Given the description of an element on the screen output the (x, y) to click on. 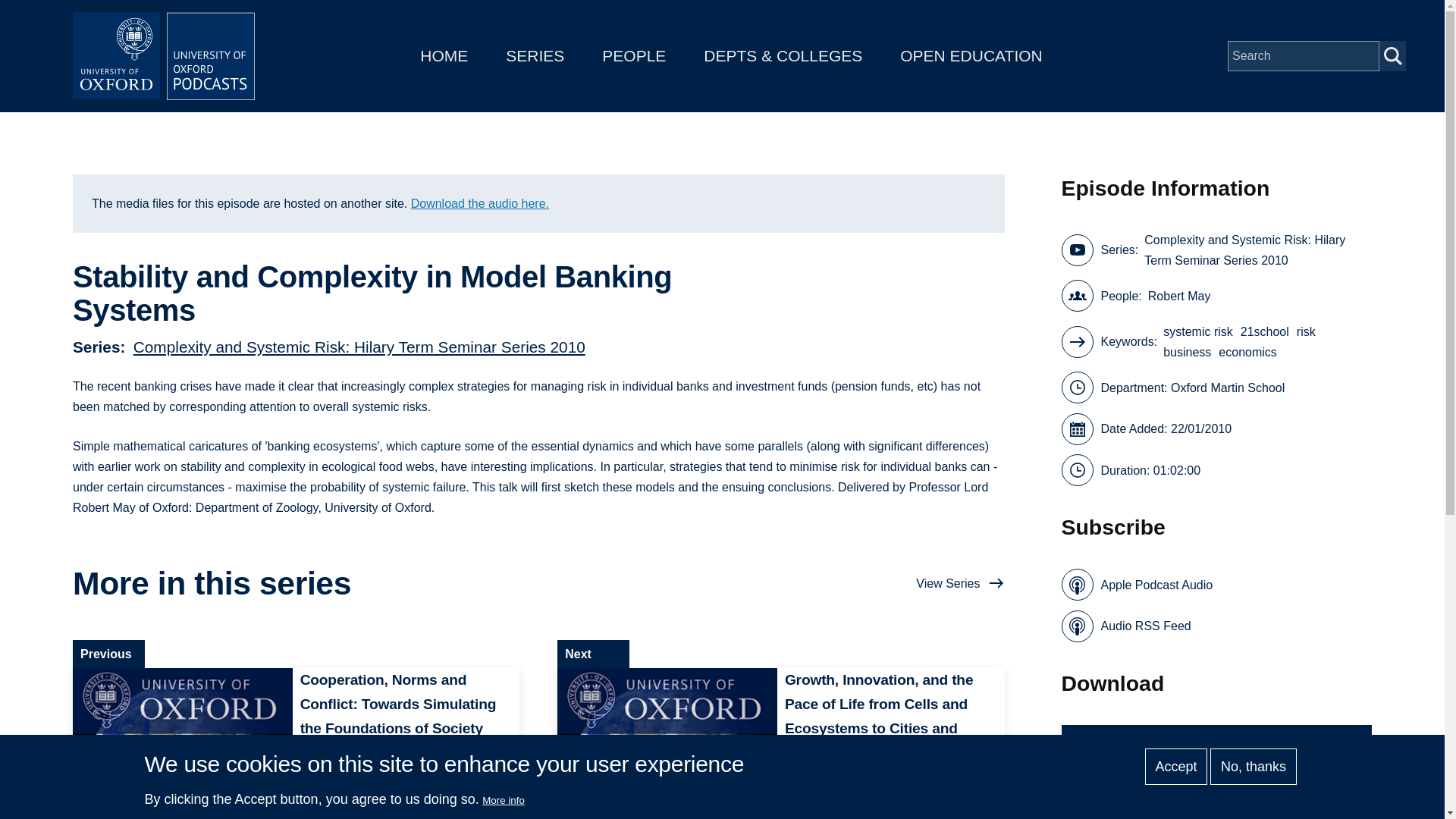
risk (1306, 331)
21school (1264, 331)
Oxford Martin School (1227, 387)
Robert May (1179, 295)
SERIES (534, 55)
Download Audio (1217, 743)
Audio RSS Feed (1126, 626)
systemic risk (1198, 331)
More info (502, 799)
Apple Podcast Audio (1136, 584)
business (1187, 352)
PEOPLE (633, 55)
economics (1247, 352)
OPEN EDUCATION (970, 55)
